Given the description of an element on the screen output the (x, y) to click on. 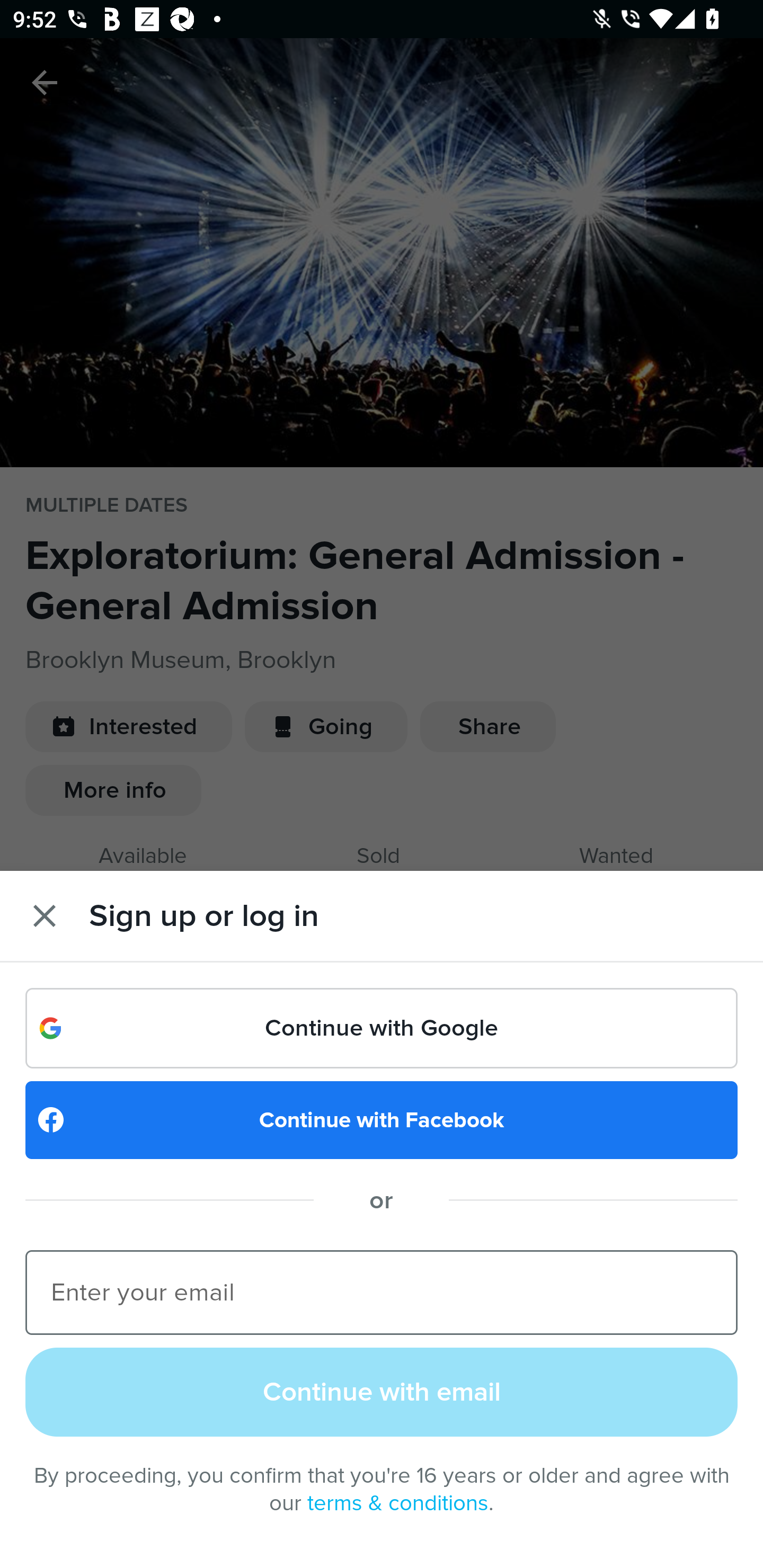
Continue with Google (381, 1027)
Continue with Facebook (381, 1119)
Enter your email (381, 1291)
Continue with email (381, 1391)
